Given the description of an element on the screen output the (x, y) to click on. 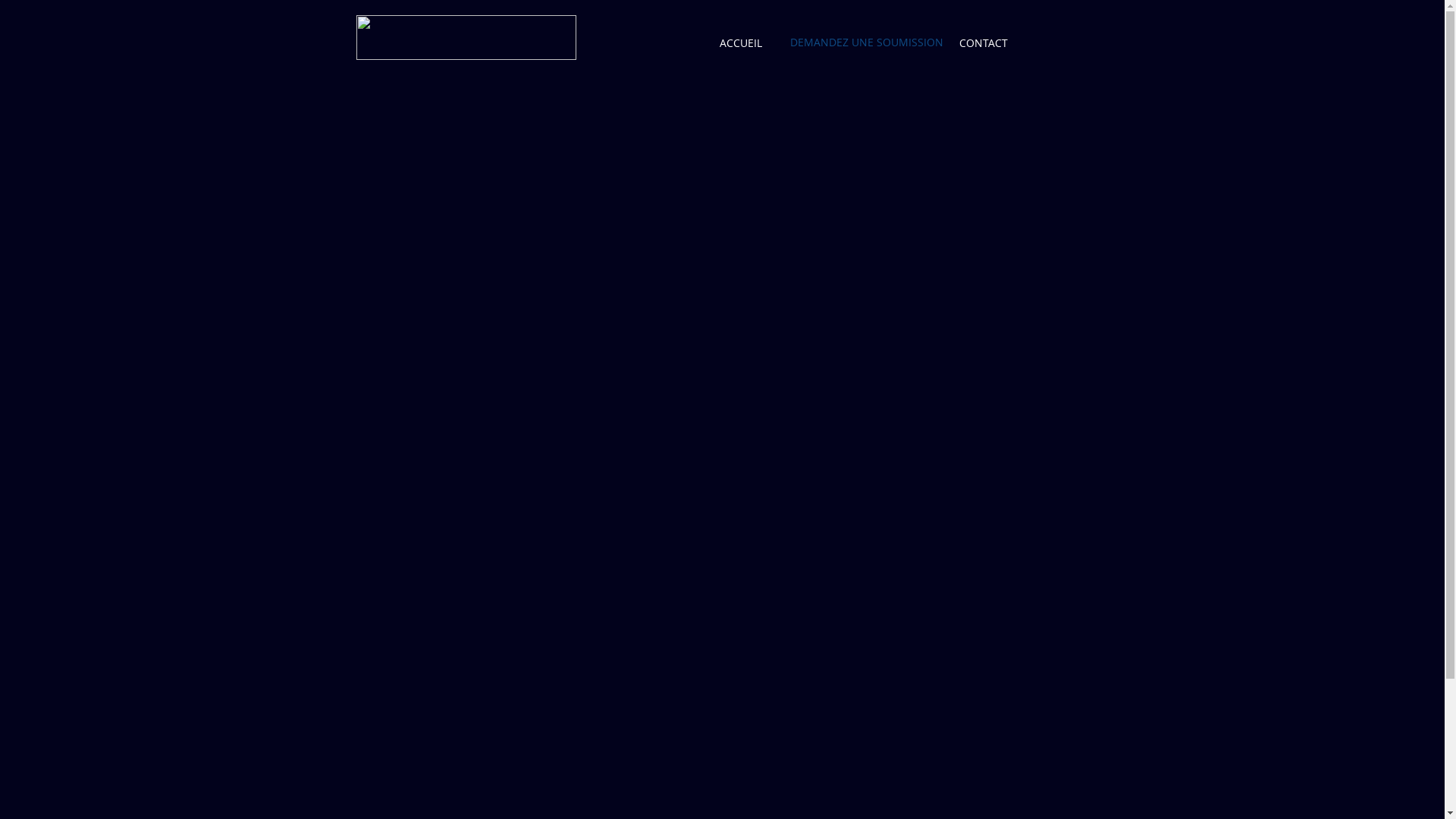
DEMANDEZ UNE SOUMISSION Element type: text (866, 42)
ACCUEIL Element type: text (739, 42)
Wix Language Menu Element type: hover (1064, 42)
CONTACT Element type: text (983, 42)
